Given the description of an element on the screen output the (x, y) to click on. 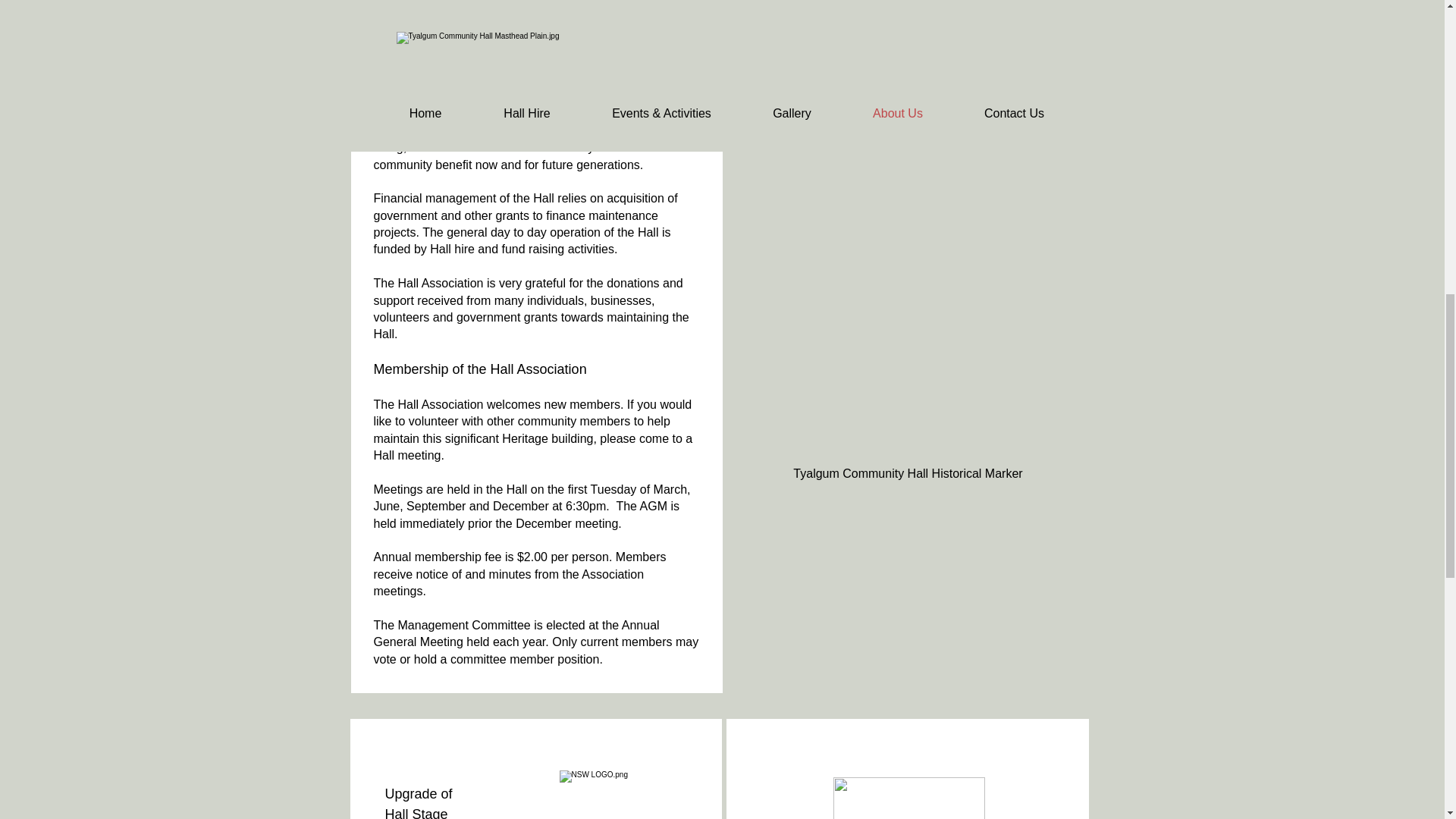
NRCF-Logo-High-Res-CMYK.jpg (908, 798)
